Given the description of an element on the screen output the (x, y) to click on. 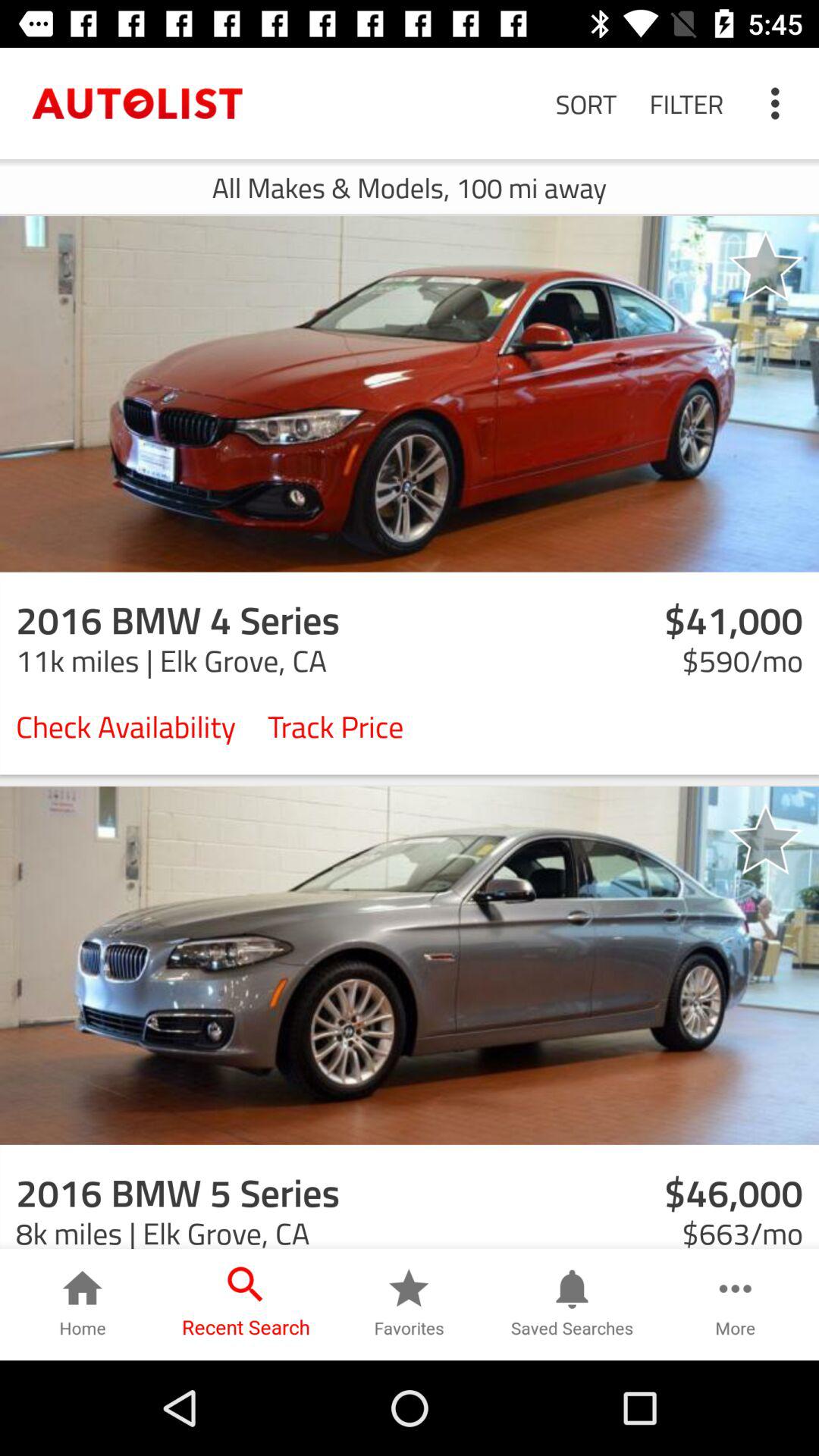
click on sort (585, 103)
